Given the description of an element on the screen output the (x, y) to click on. 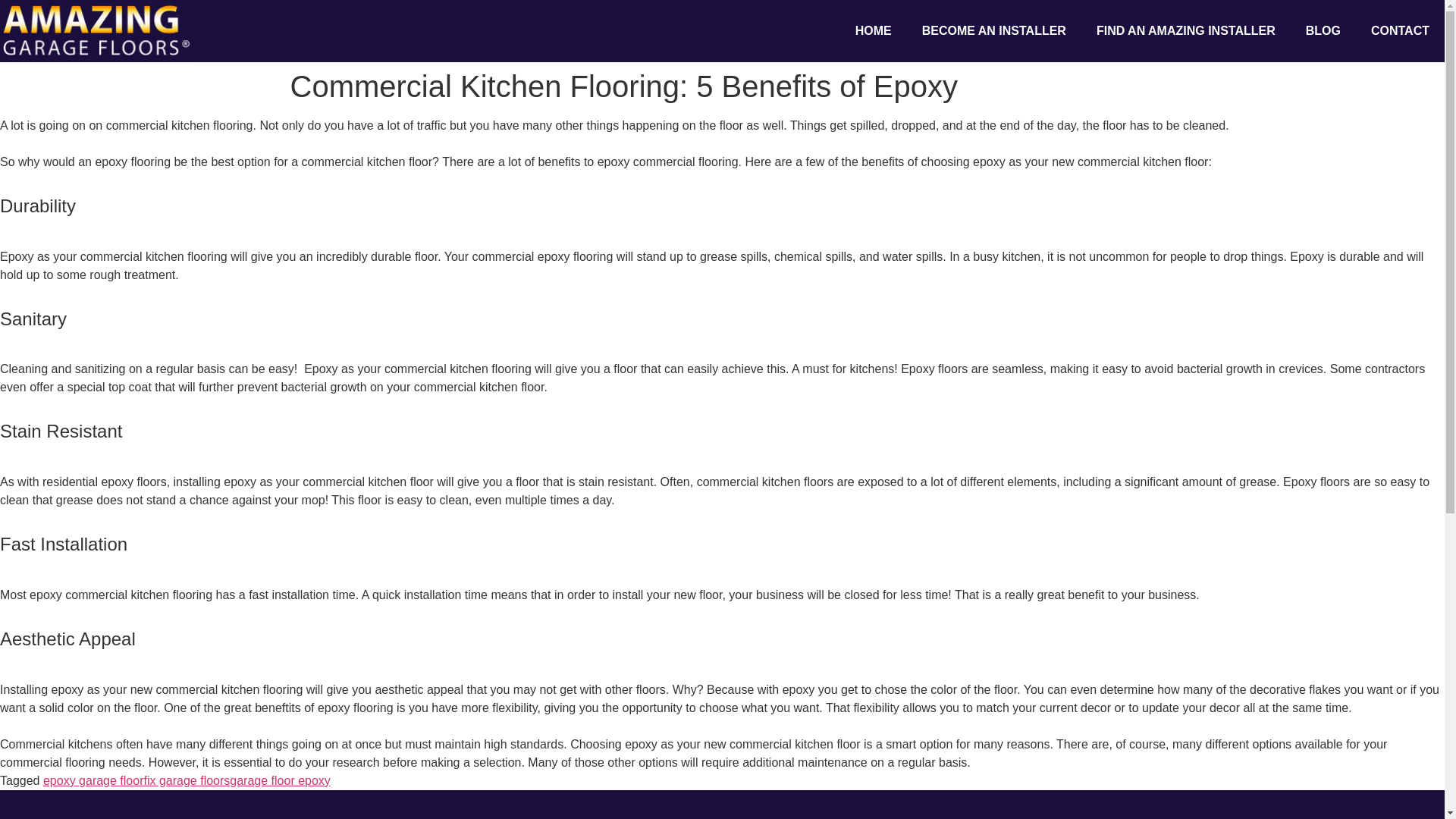
HOME (873, 30)
BECOME AN INSTALLER (994, 30)
BLOG (1322, 30)
FIND AN AMAZING INSTALLER (1185, 30)
epoxy garage floor (93, 780)
fix garage floors (186, 780)
garage floor epoxy (280, 780)
